Given the description of an element on the screen output the (x, y) to click on. 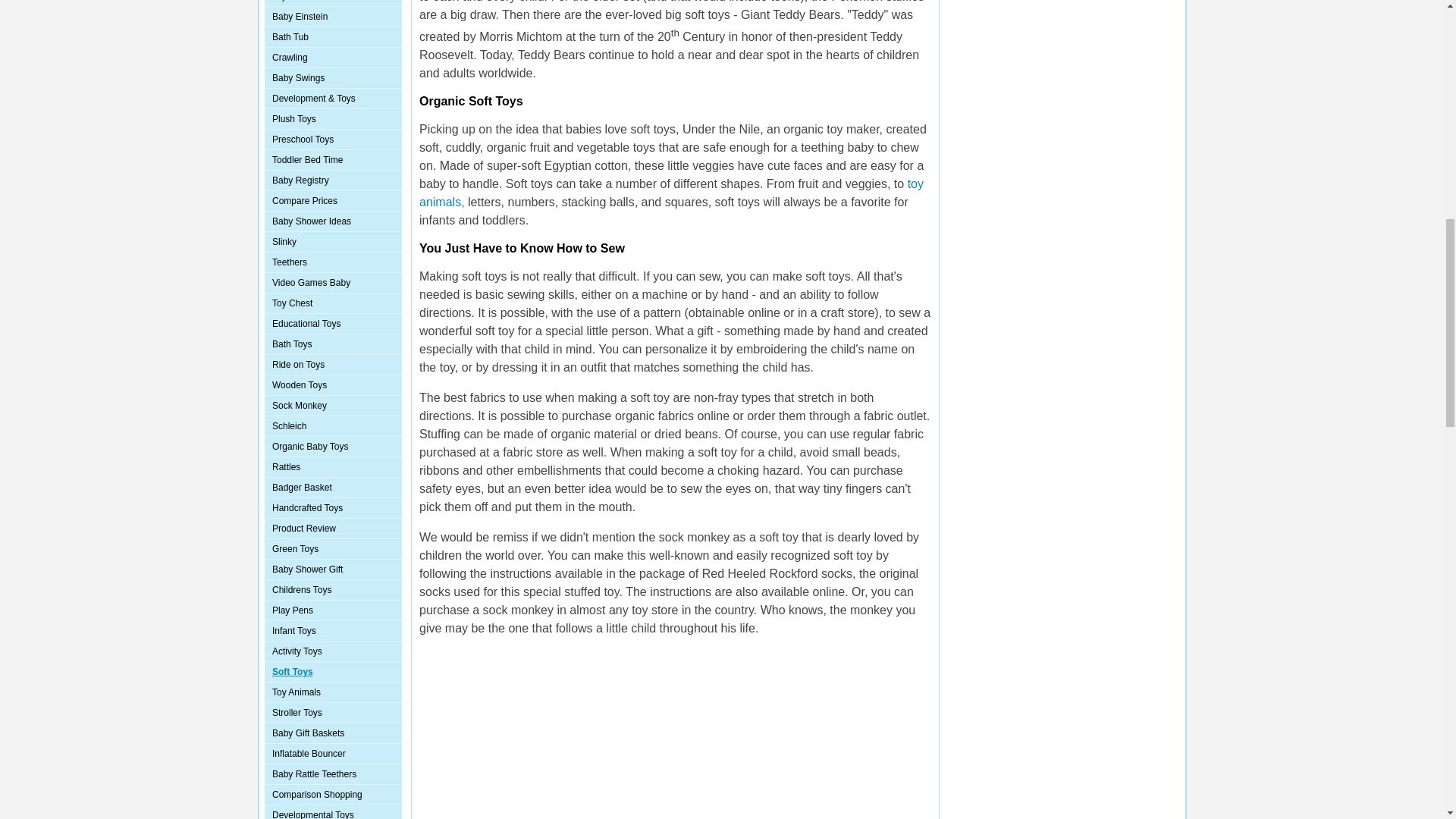
toy animals (671, 192)
3rd party ad content (675, 734)
toy animals, (671, 192)
